Given the description of an element on the screen output the (x, y) to click on. 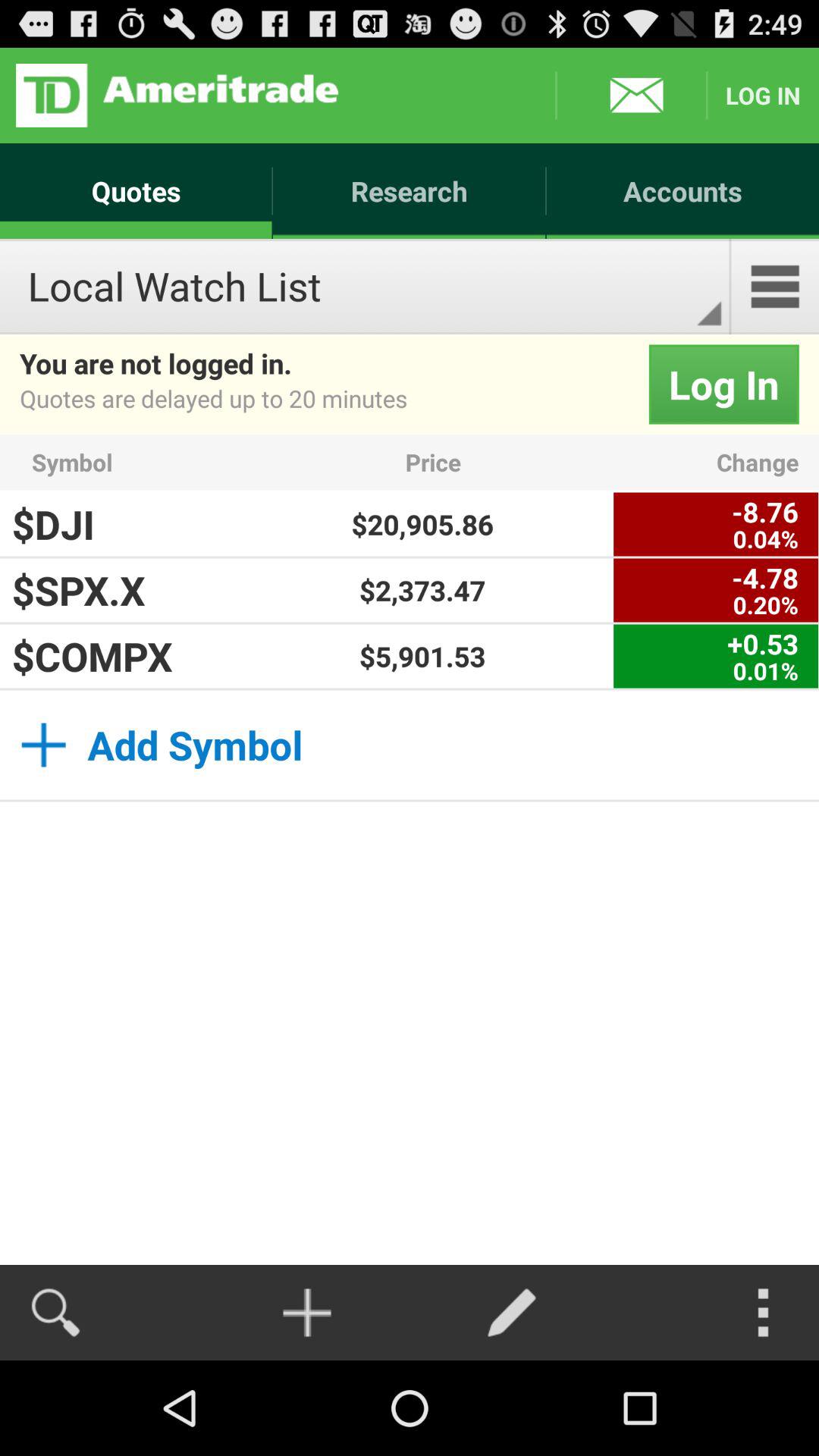
open icon to the left of the 4 78 0 icon (422, 590)
